Given the description of an element on the screen output the (x, y) to click on. 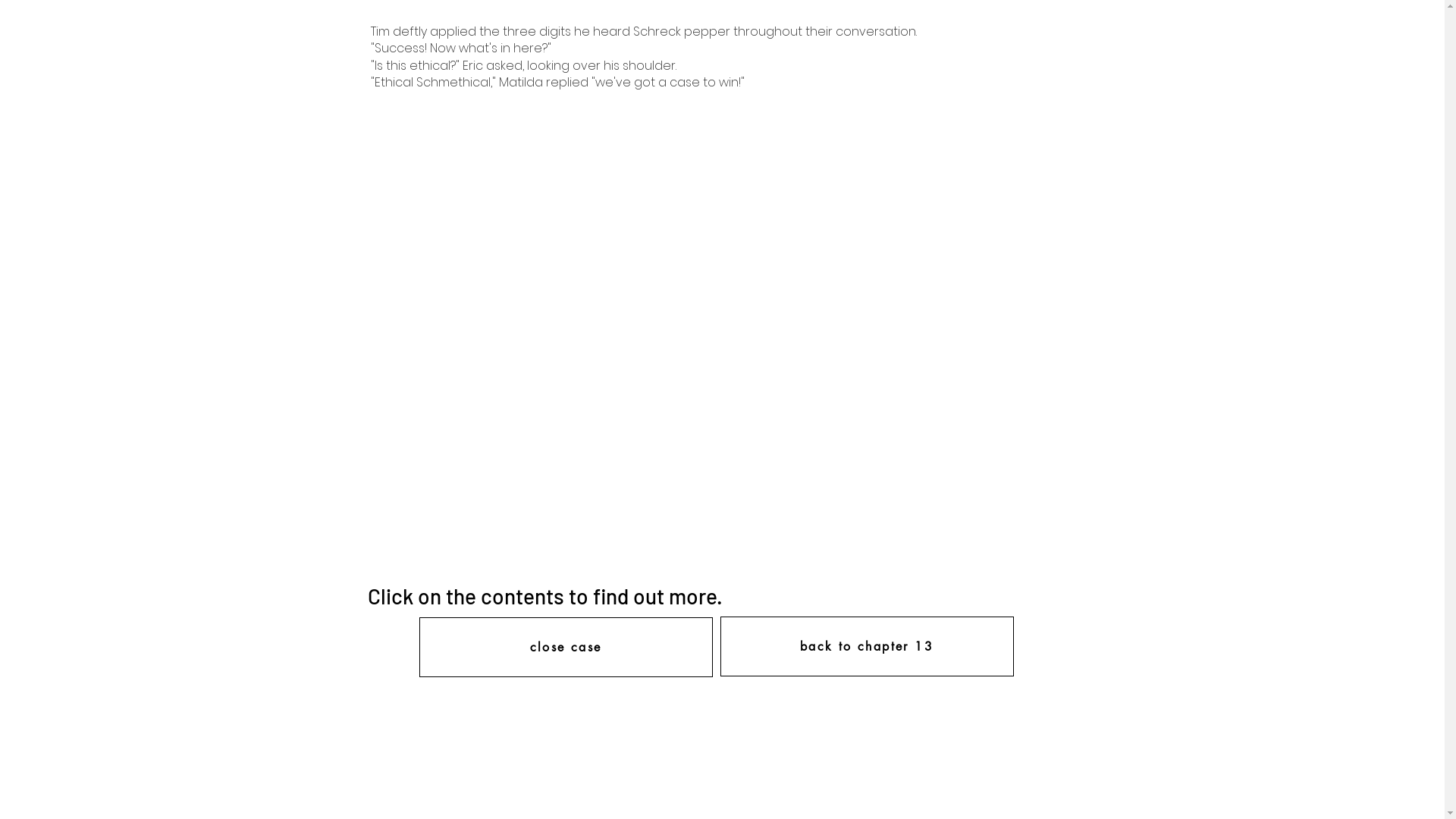
back to chapter 13 Element type: text (866, 646)
Image Hotspots Element type: hover (706, 338)
close case Element type: text (565, 647)
